Given the description of an element on the screen output the (x, y) to click on. 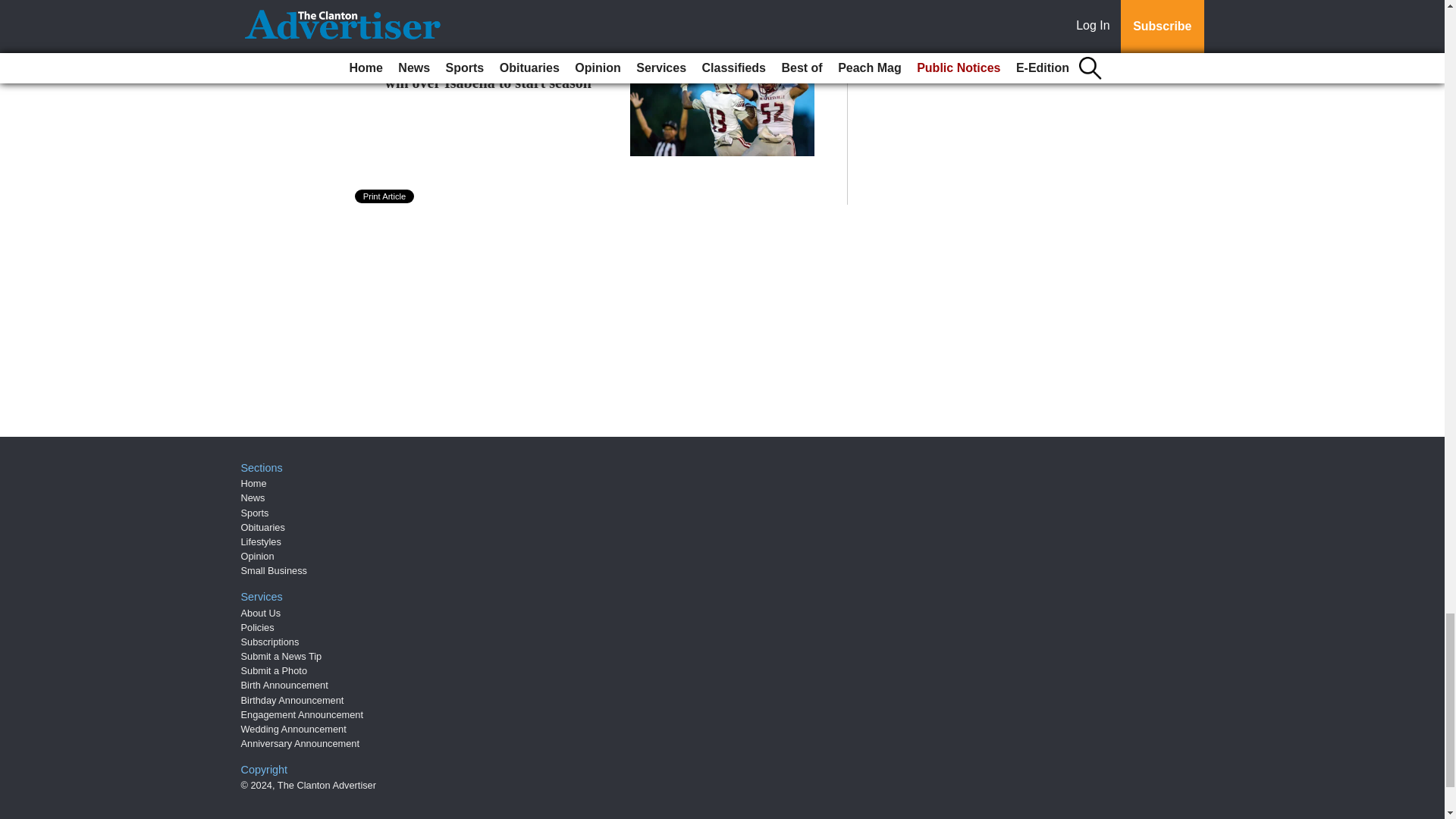
Print Article (384, 196)
